Given the description of an element on the screen output the (x, y) to click on. 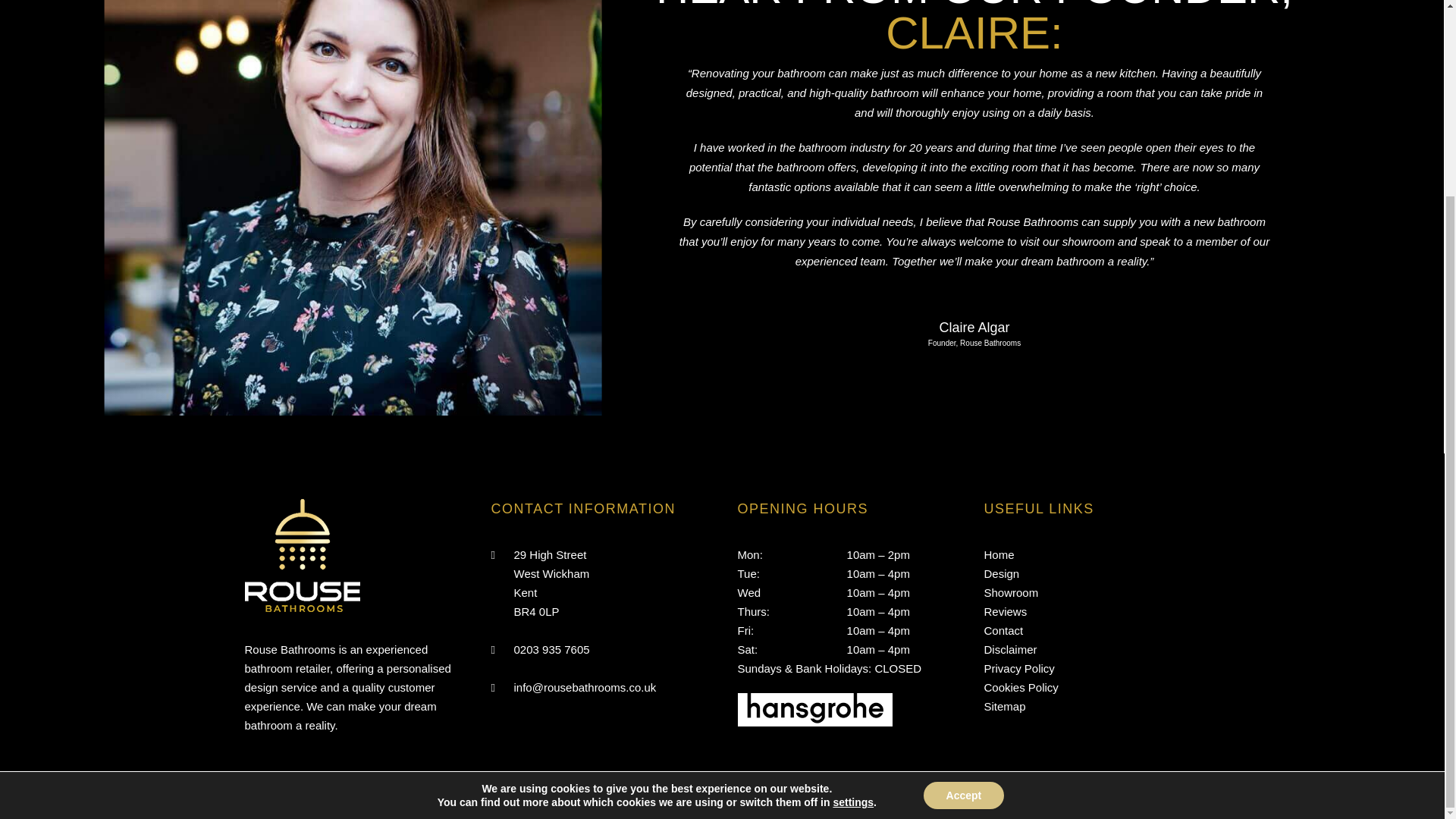
Privacy Policy (1019, 668)
Cookies Policy (1021, 687)
0203 935 7605 (551, 649)
Give us a call! (551, 649)
Send us a message! (584, 686)
Disclaimer (1010, 649)
Contact (1003, 629)
Showroom (1011, 592)
Design (1002, 573)
Home (999, 554)
